Given the description of an element on the screen output the (x, y) to click on. 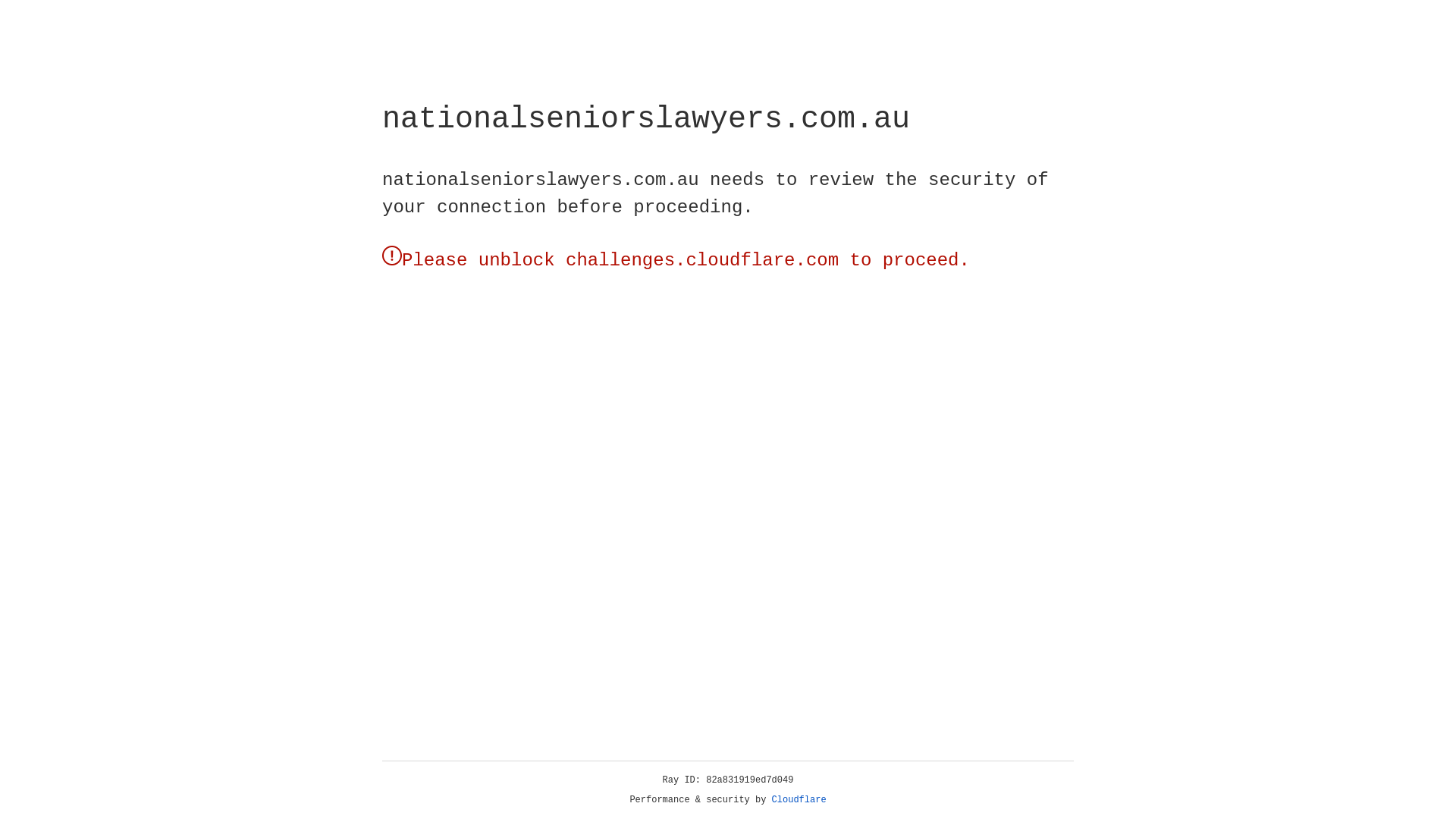
Cloudflare Element type: text (798, 799)
